Given the description of an element on the screen output the (x, y) to click on. 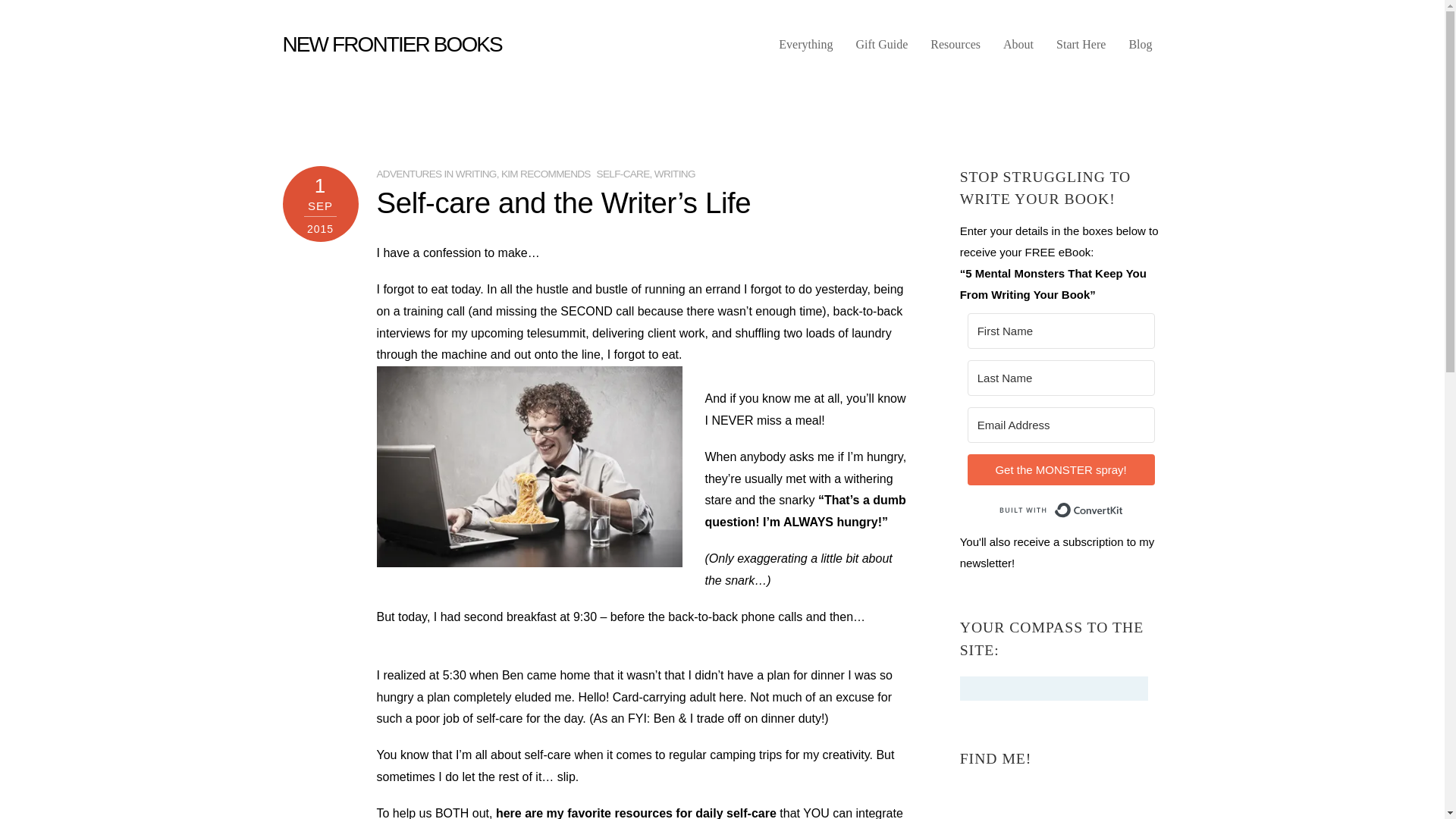
KIM RECOMMENDS (545, 173)
Search (1053, 688)
Resources (955, 50)
Gift Guide (881, 50)
Everything (805, 50)
SELF-CARE (622, 173)
Blog (1139, 50)
WRITING (674, 173)
ADVENTURES IN WRITING (435, 173)
Start Here (1080, 50)
New Frontier Books (391, 44)
NEW FRONTIER BOOKS (391, 44)
About (1018, 50)
